Given the description of an element on the screen output the (x, y) to click on. 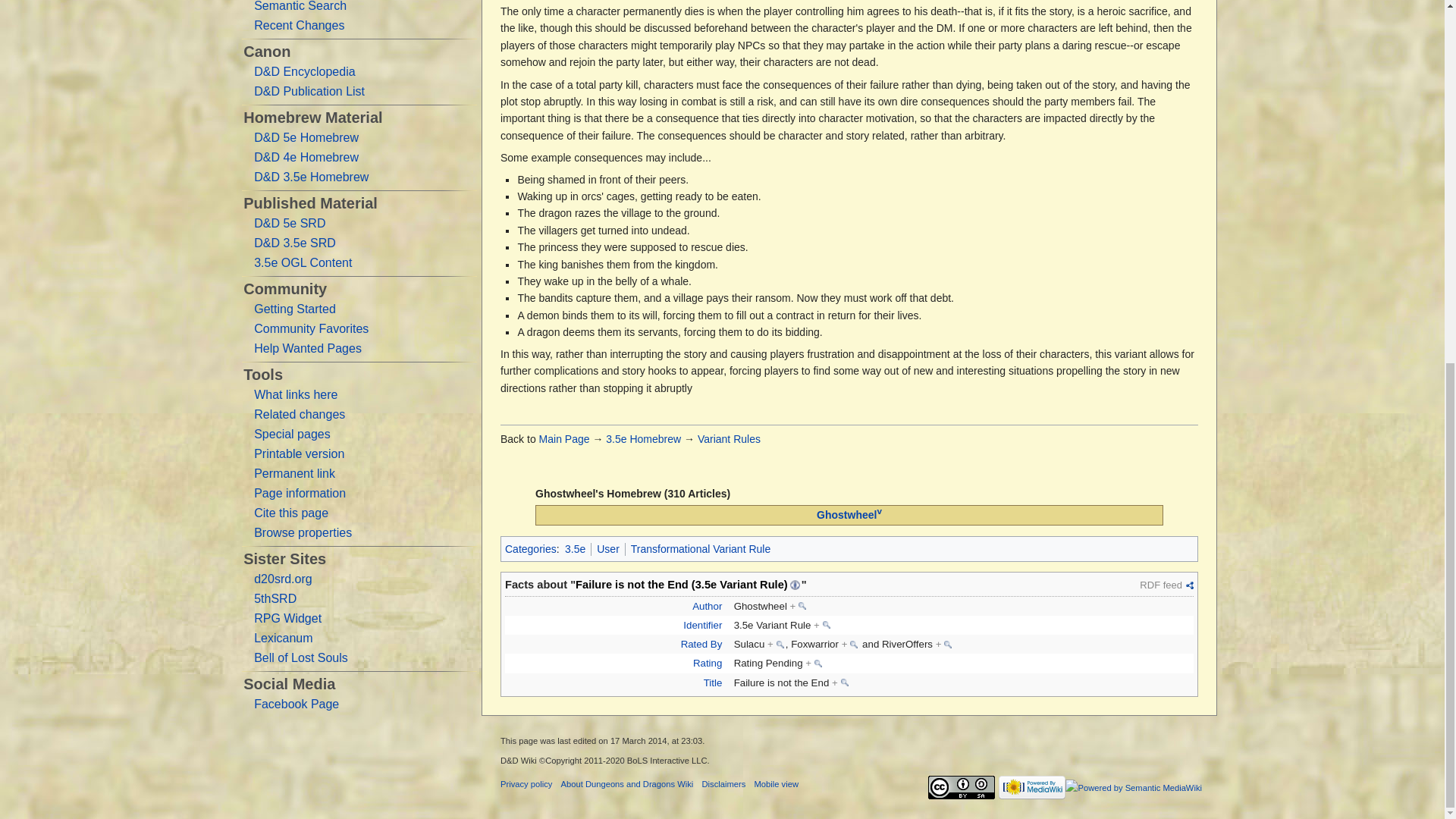
Ghostwheel (846, 514)
Identifier (702, 624)
Title (712, 682)
Transformational Variant Rule (700, 548)
3.5e Homebrew (643, 439)
User (608, 548)
Main Page (563, 439)
Main Page (563, 439)
Category:3.5e (574, 548)
3.5e Homebrew (643, 439)
Rated By (701, 644)
Rating (707, 663)
v (878, 510)
Special:Categories (530, 548)
Categories (530, 548)
